Given the description of an element on the screen output the (x, y) to click on. 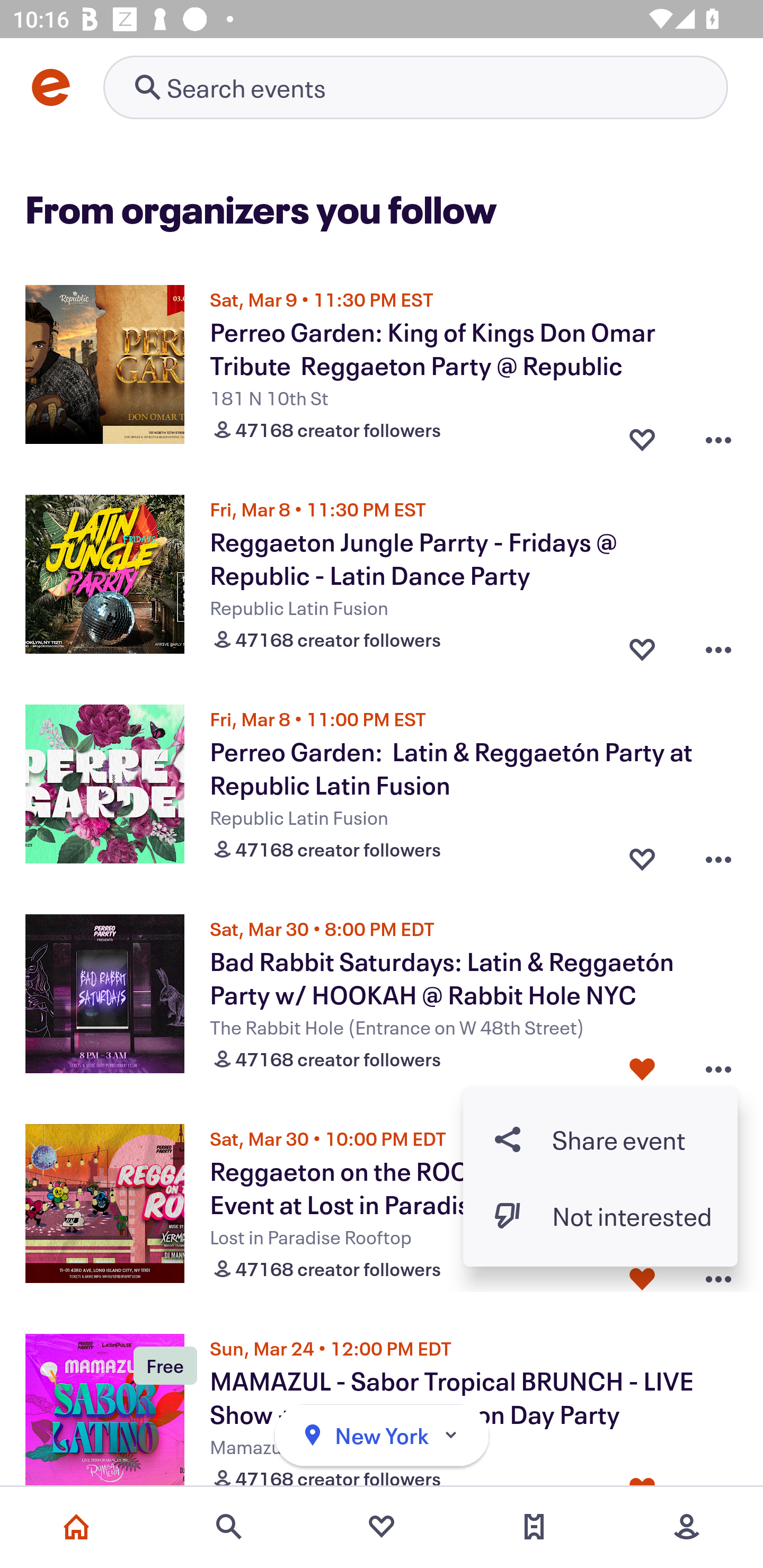
Share button Share event (600, 1138)
Dislike event button Not interested (600, 1215)
